Given the description of an element on the screen output the (x, y) to click on. 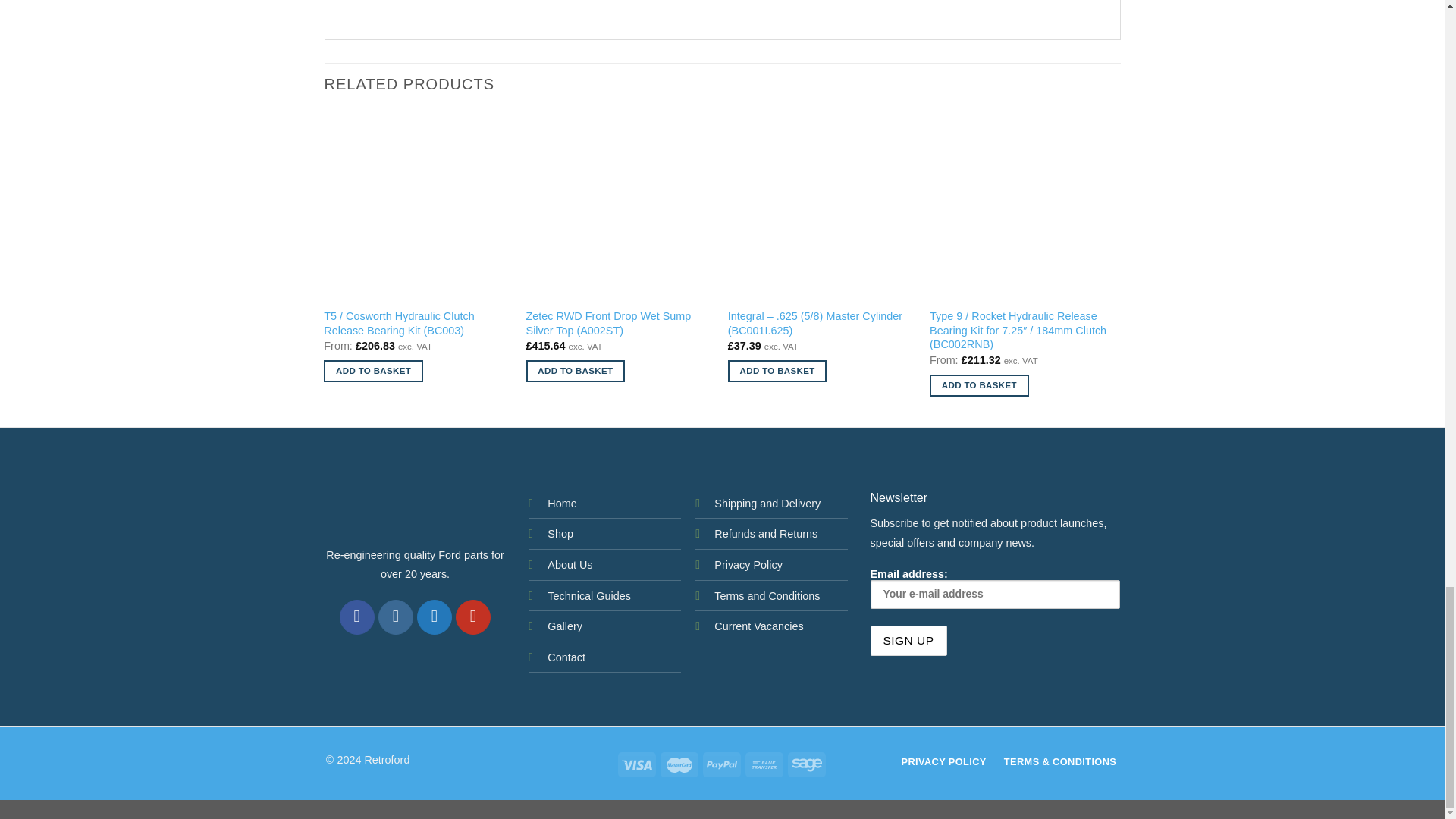
Follow on Instagram (395, 617)
Follow on Facebook (357, 617)
Follow on Twitter (434, 617)
Follow on YouTube (473, 617)
Sign up (908, 640)
